Given the description of an element on the screen output the (x, y) to click on. 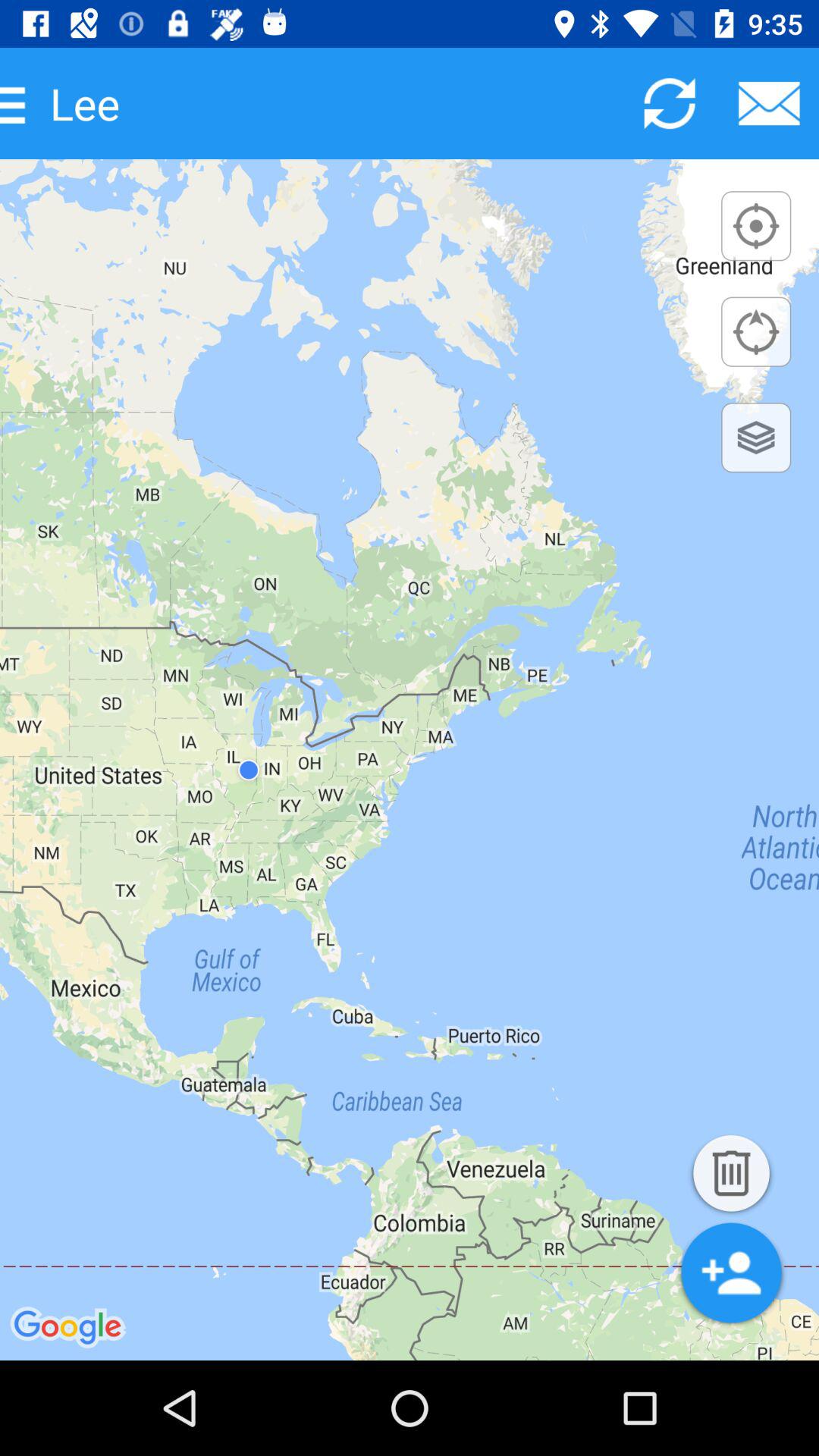
share location (769, 103)
